Given the description of an element on the screen output the (x, y) to click on. 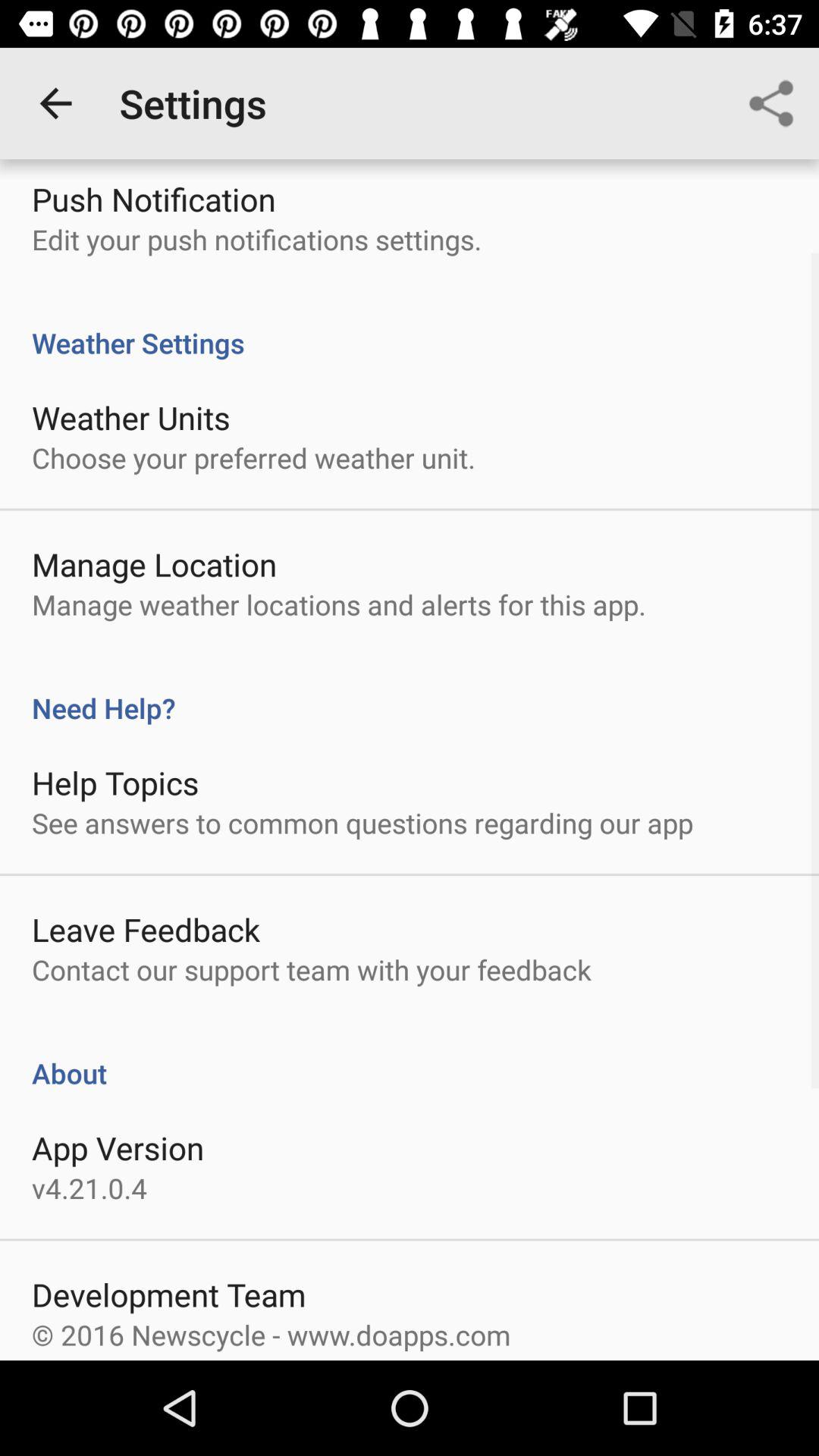
launch development team item (168, 1294)
